Given the description of an element on the screen output the (x, y) to click on. 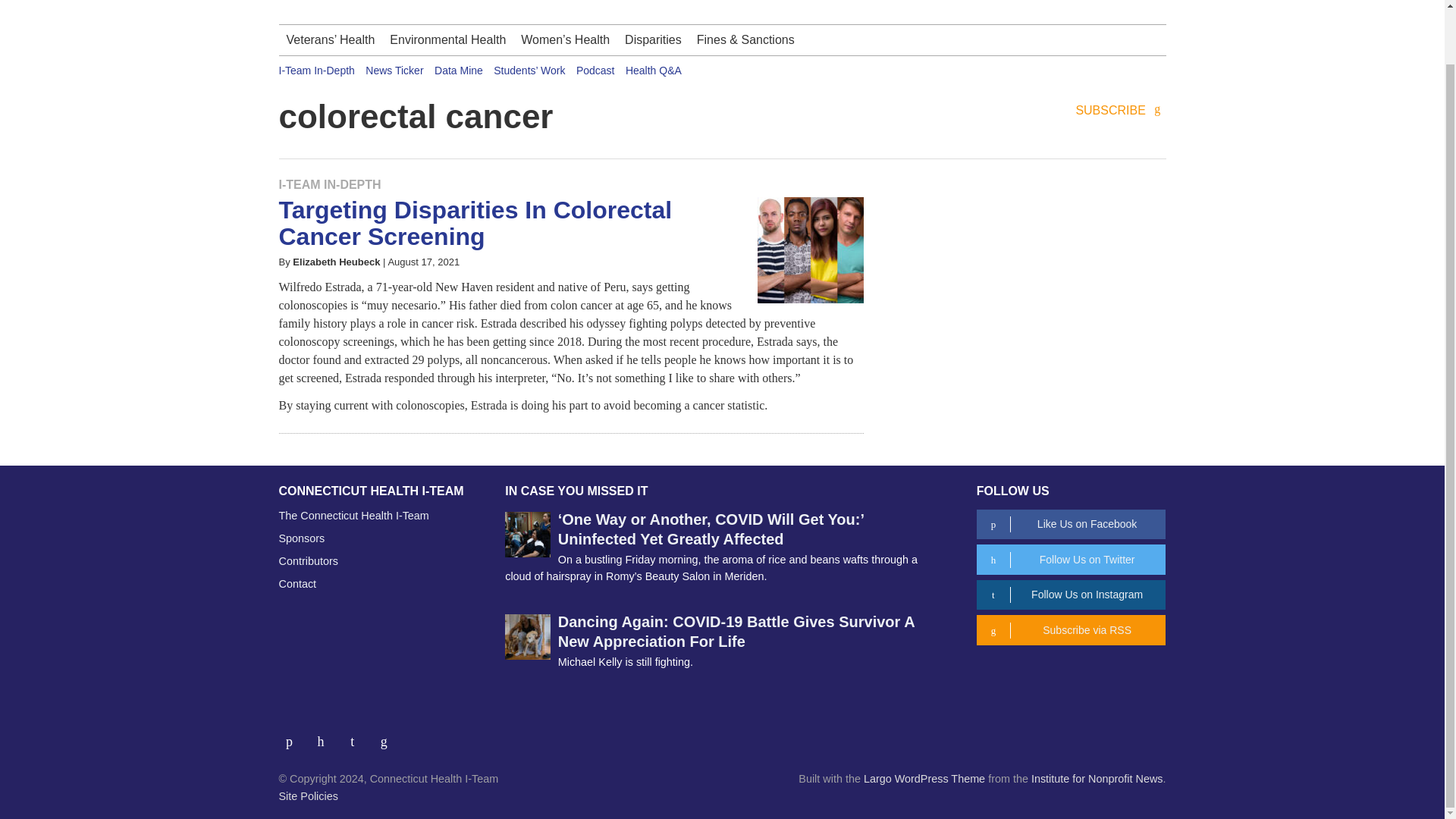
Podcast (595, 70)
I-Team In-Depth (317, 70)
Environmental Health (447, 40)
Link to Instagram Page (358, 735)
Read Stories in the I-Team In-Depth category (330, 184)
SUBSCRIBE (1120, 110)
Link to Twitter Page (326, 735)
News Ticker (394, 70)
Link to RSS Feed (384, 735)
I-TEAM IN-DEPTH (330, 184)
More from Elizabeth Heubeck (336, 261)
Disparities (652, 40)
Link to Facebook Profile (295, 735)
Data Mine (458, 70)
